Given the description of an element on the screen output the (x, y) to click on. 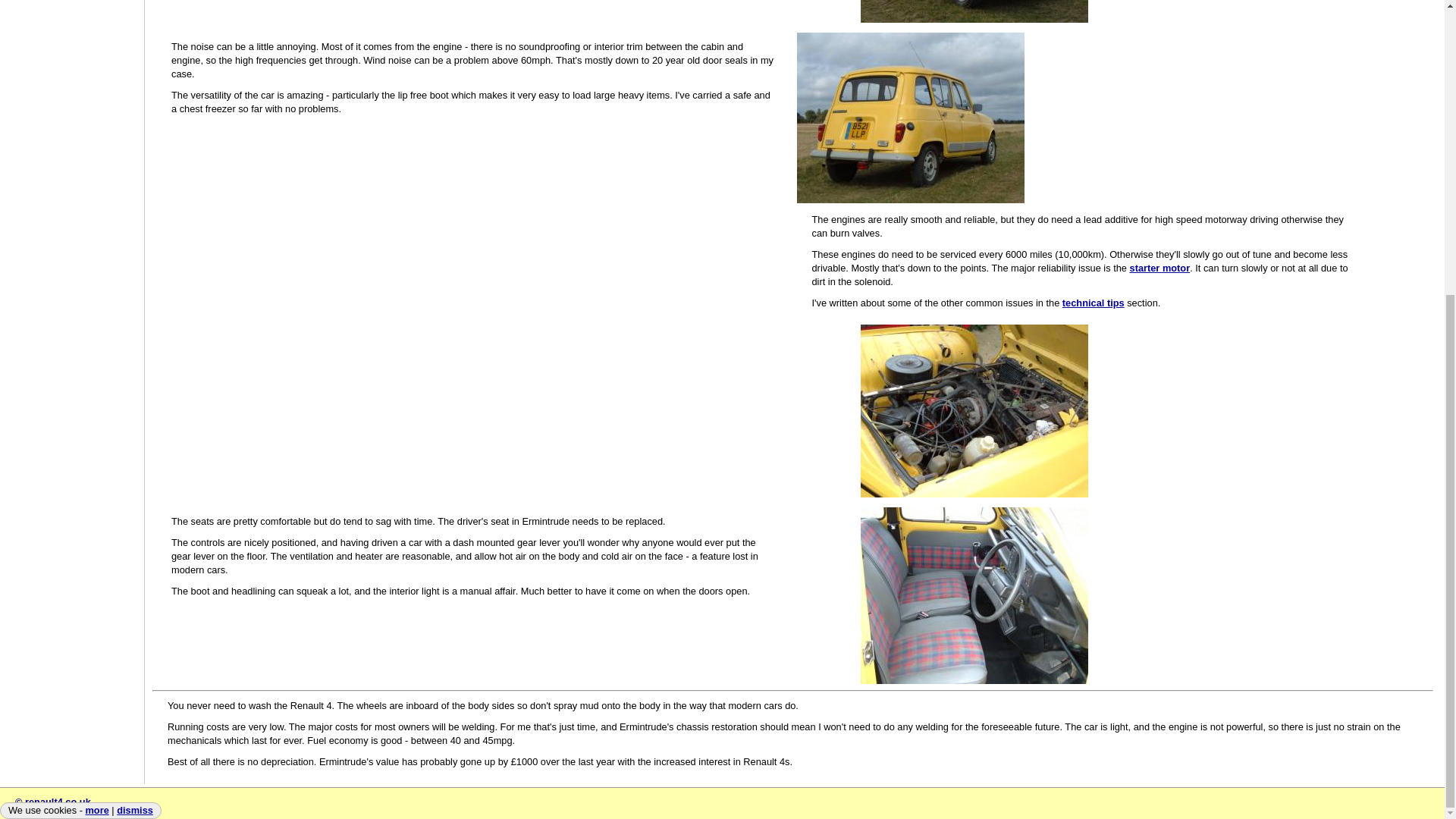
starter motor (1160, 267)
dismiss (134, 357)
more (95, 357)
technical tips (1093, 302)
